Given the description of an element on the screen output the (x, y) to click on. 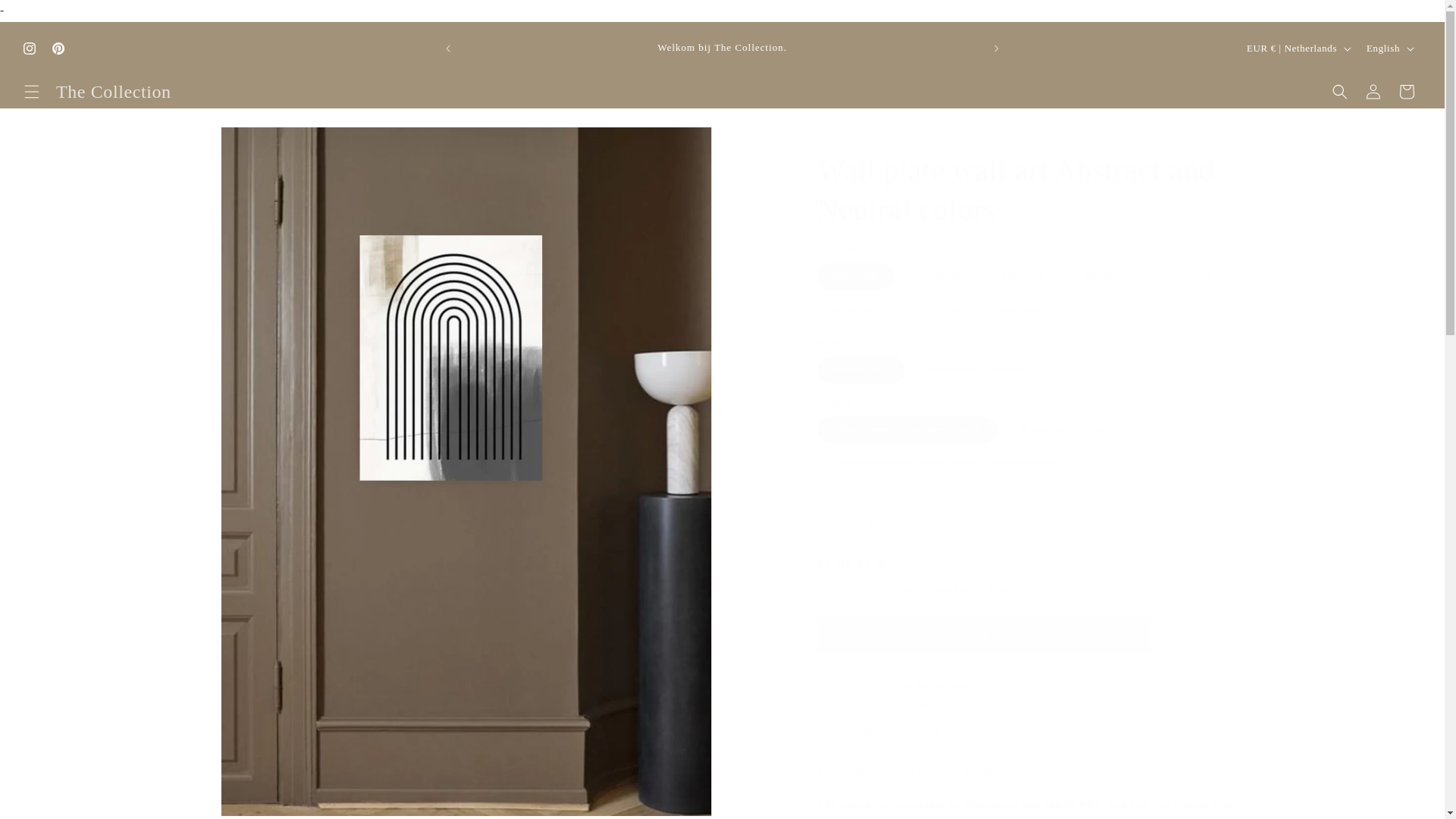
Cart (1406, 91)
1 (870, 527)
Log in (1373, 91)
